Given the description of an element on the screen output the (x, y) to click on. 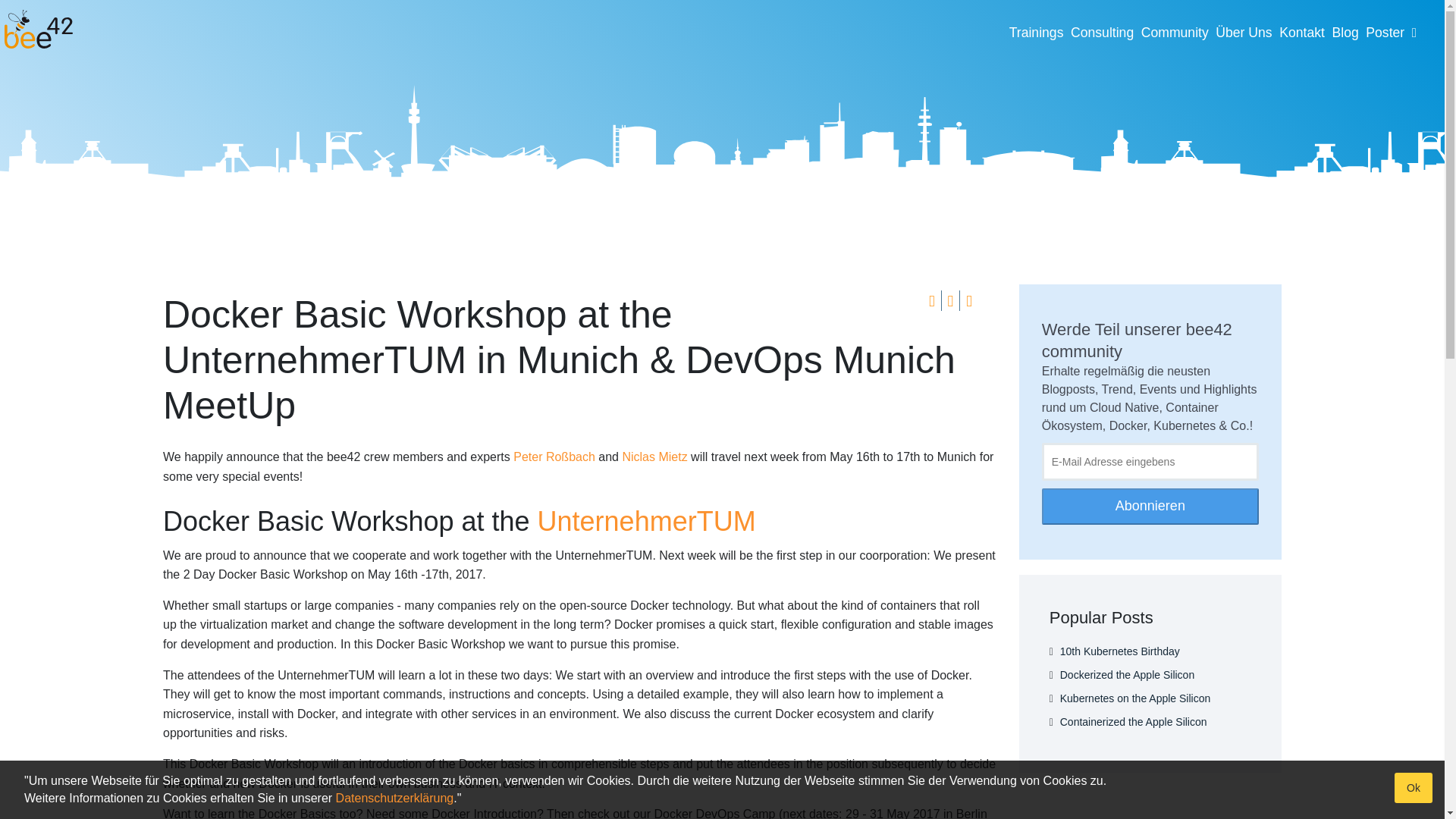
Poster (1385, 32)
Consulting (1102, 32)
Containerized the Apple Silicon (1133, 721)
Kubernetes on the Apple Silicon (1134, 698)
10th Kubernetes Birthday (1119, 651)
Community (1174, 32)
Kontakt (1301, 32)
Niclas Mietz (654, 456)
Blog (1345, 32)
UnternehmerTUM (646, 521)
